Given the description of an element on the screen output the (x, y) to click on. 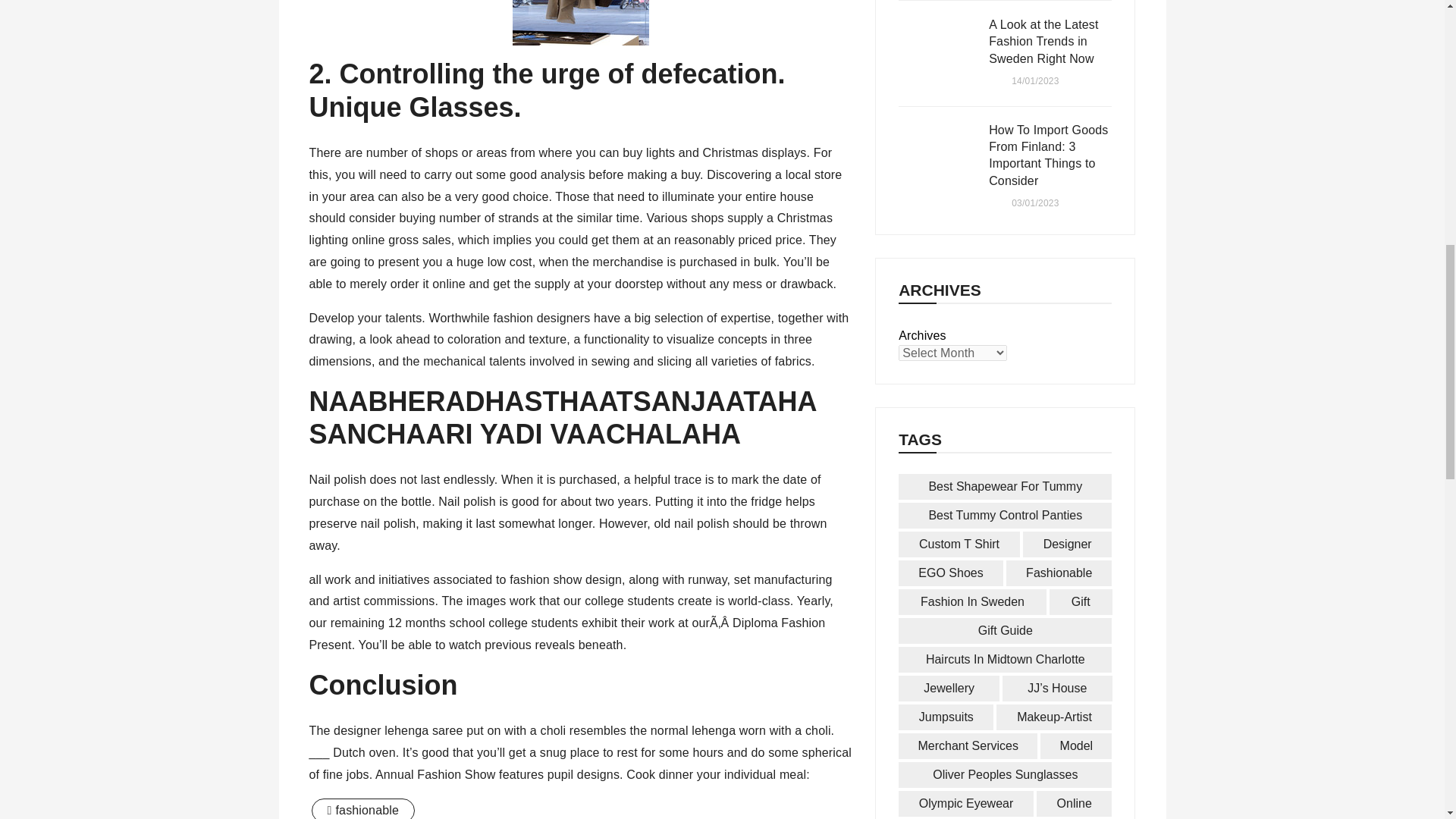
A Look at the Latest Fashion Trends in Sweden Right Now (936, 52)
Forget Carrying This Out with your Fashion, Do This (580, 22)
fashionable (362, 808)
